Given the description of an element on the screen output the (x, y) to click on. 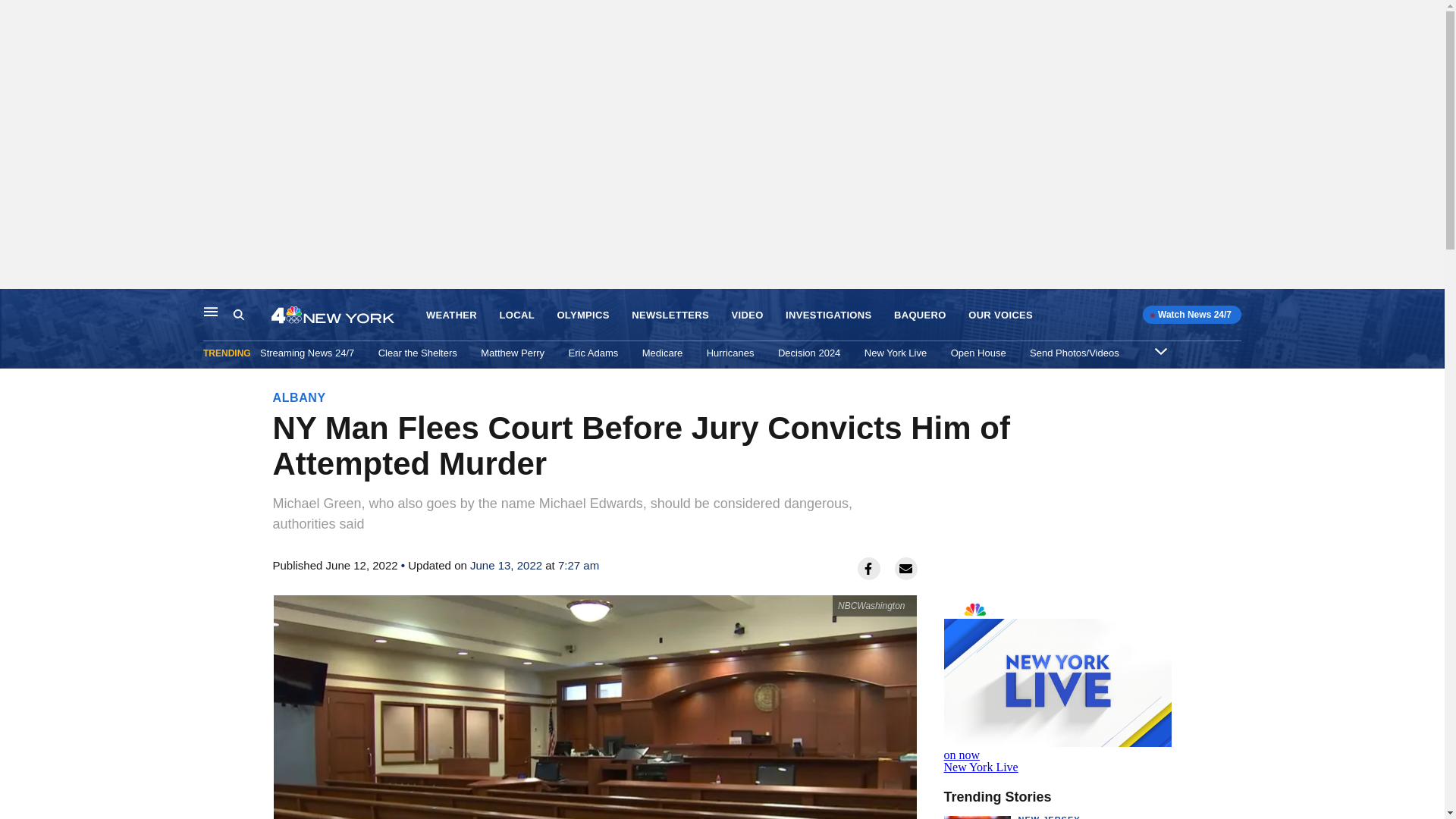
Eric Adams (593, 352)
INVESTIGATIONS (828, 315)
VIDEO (746, 315)
New York Live (1056, 684)
WEATHER (895, 352)
LOCAL (451, 315)
Hurricanes (516, 315)
Main Navigation (730, 352)
NEW JERSEY (210, 311)
